Given the description of an element on the screen output the (x, y) to click on. 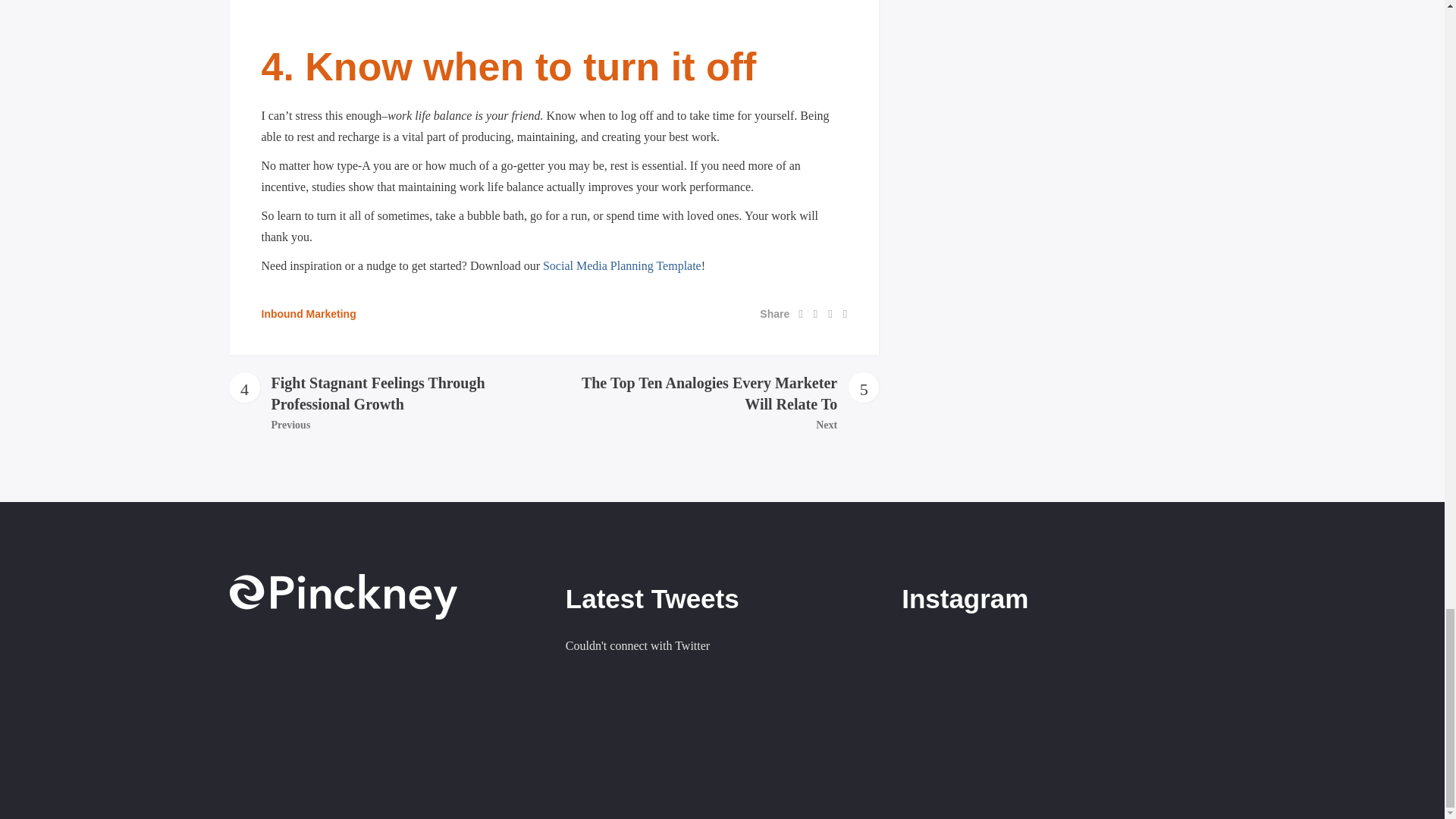
Form 0 (384, 714)
